Given the description of an element on the screen output the (x, y) to click on. 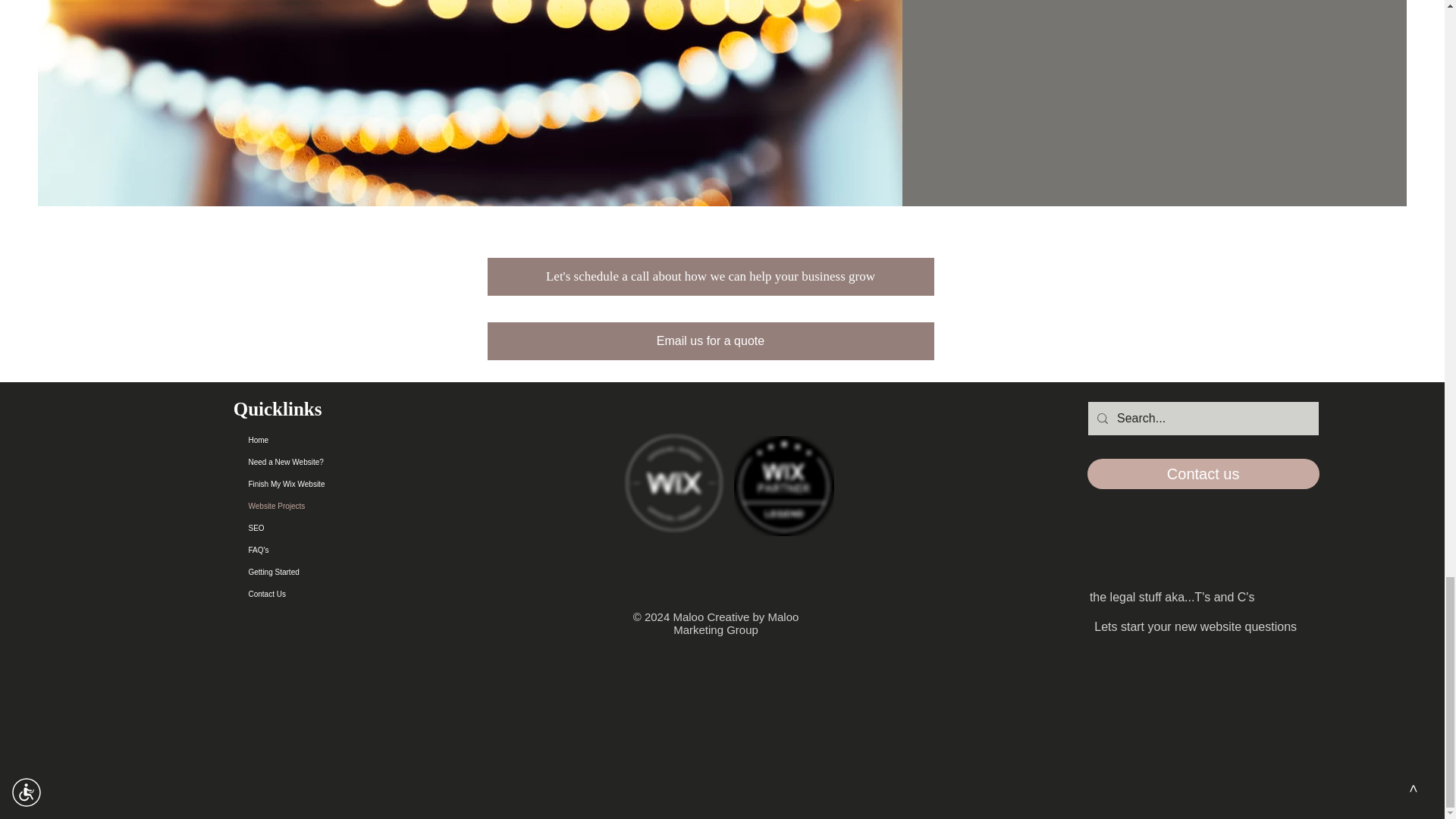
Lets start your new website questions (1195, 626)
Email us for a quote (709, 341)
Wix Legend (783, 485)
the legal stuff aka...T's and C's (1172, 597)
Contact us (1203, 473)
Home (326, 440)
